Given the description of an element on the screen output the (x, y) to click on. 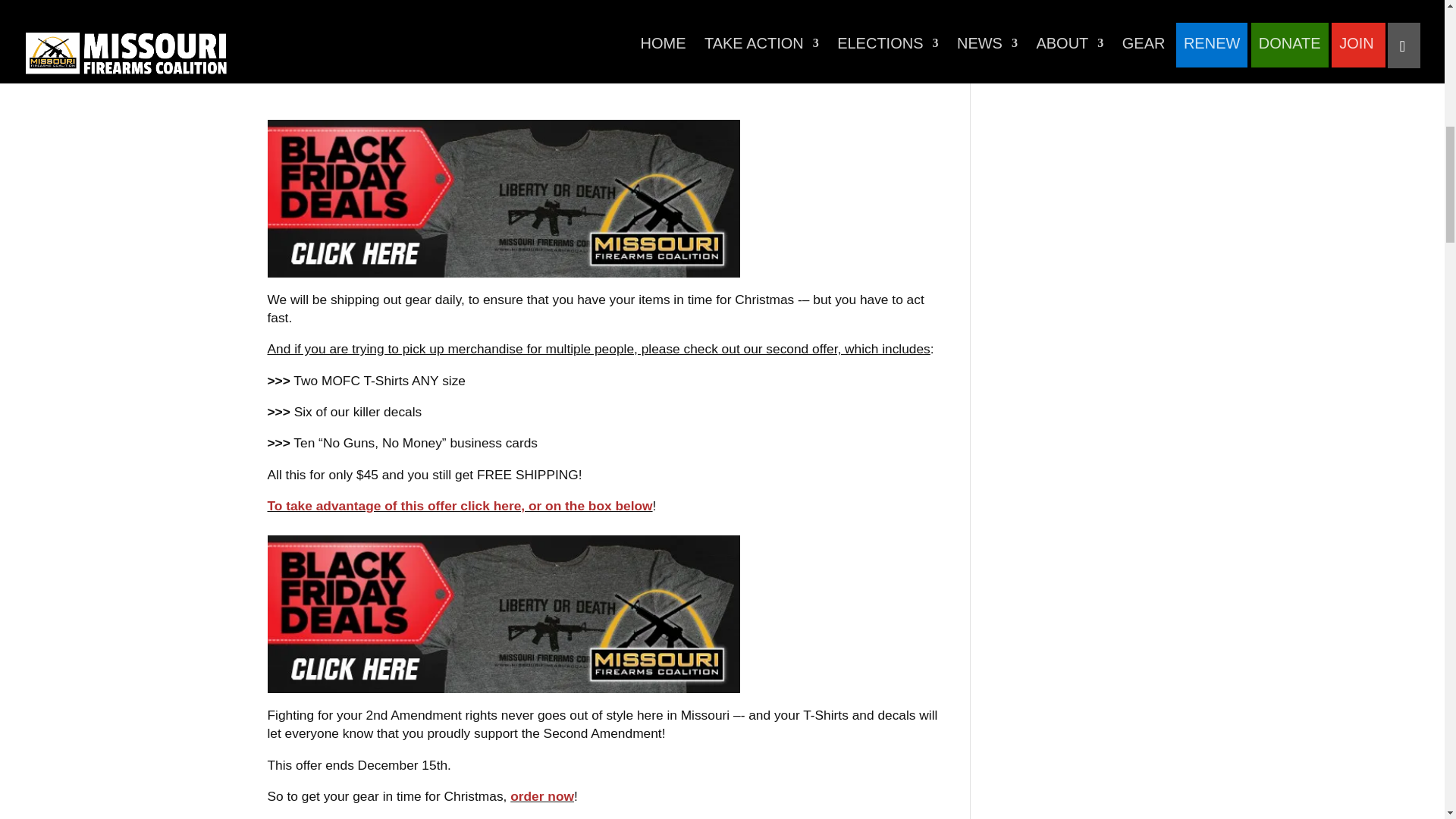
order now (542, 795)
